Given the description of an element on the screen output the (x, y) to click on. 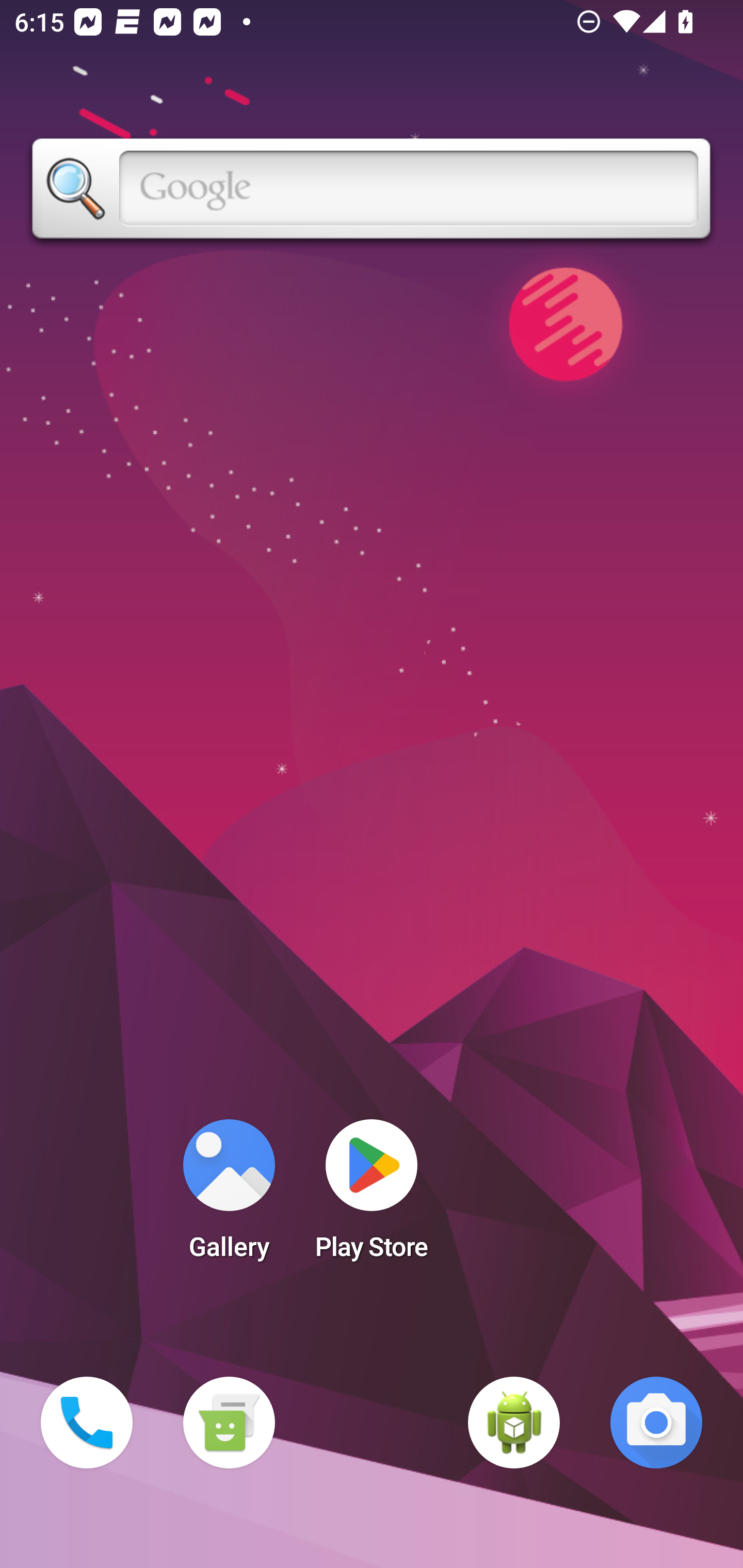
Gallery (228, 1195)
Play Store (371, 1195)
Phone (86, 1422)
Messaging (228, 1422)
WebView Browser Tester (513, 1422)
Camera (656, 1422)
